Given the description of an element on the screen output the (x, y) to click on. 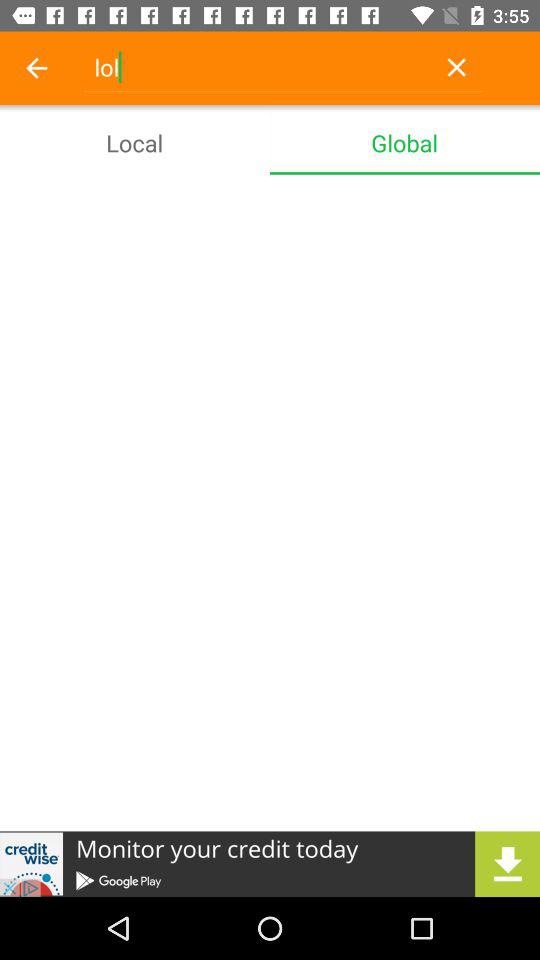
open advertisement (270, 864)
